Given the description of an element on the screen output the (x, y) to click on. 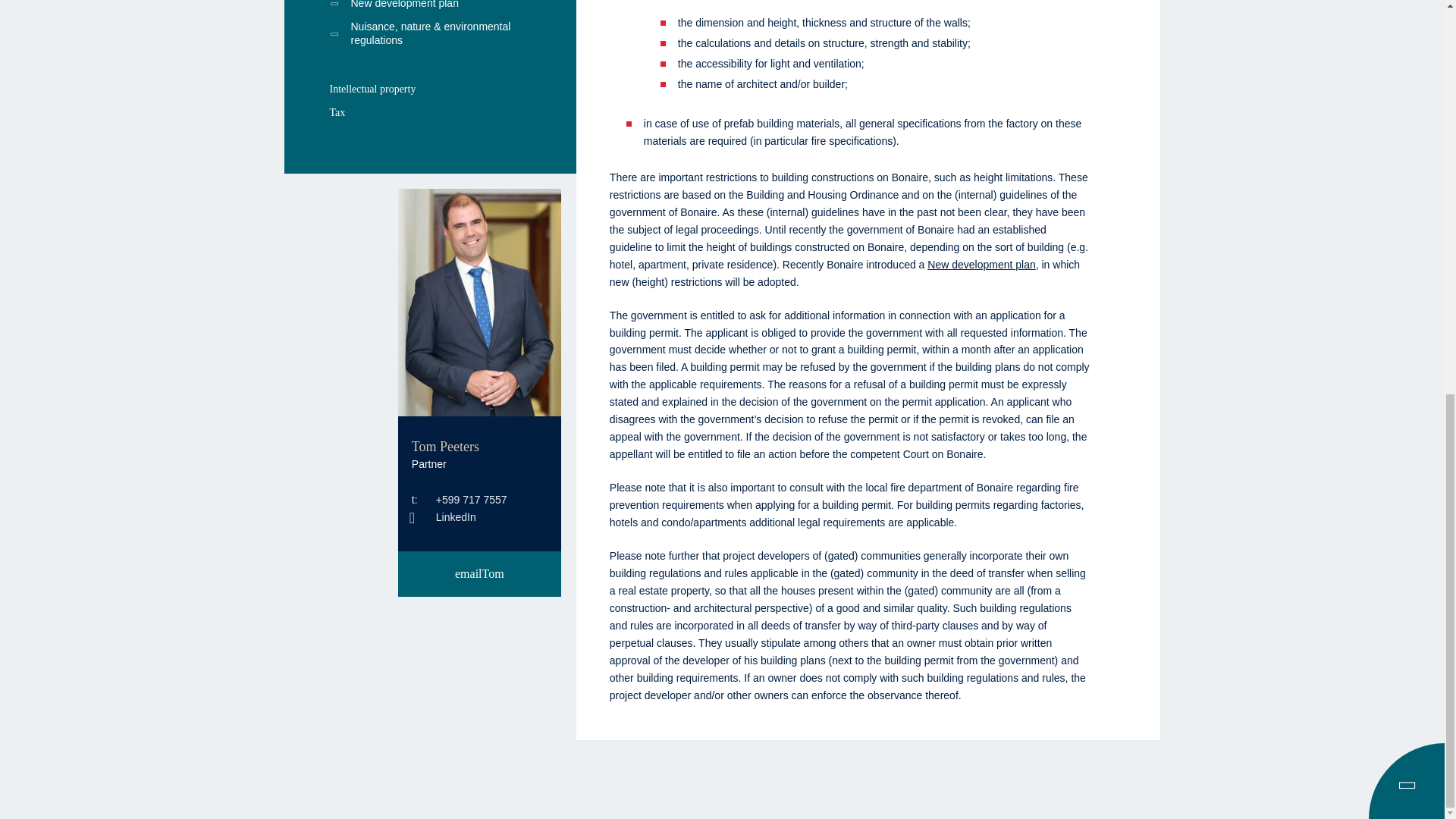
emailTom (478, 573)
Toggle footer (1409, 785)
New development plan (429, 7)
Tax (429, 112)
LinkedIn (444, 517)
New development plan (981, 264)
Intellectual property (429, 88)
